Given the description of an element on the screen output the (x, y) to click on. 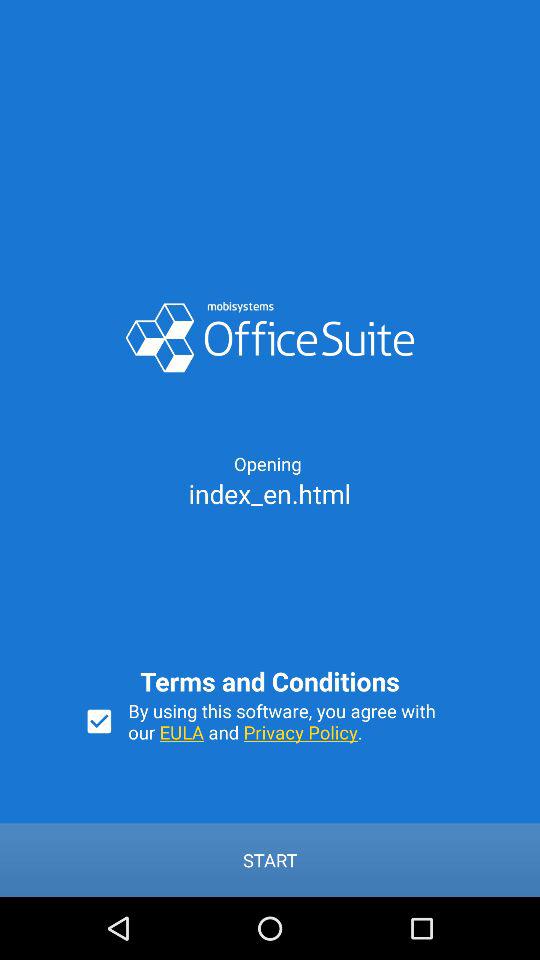
turn off the by using this item (292, 721)
